Given the description of an element on the screen output the (x, y) to click on. 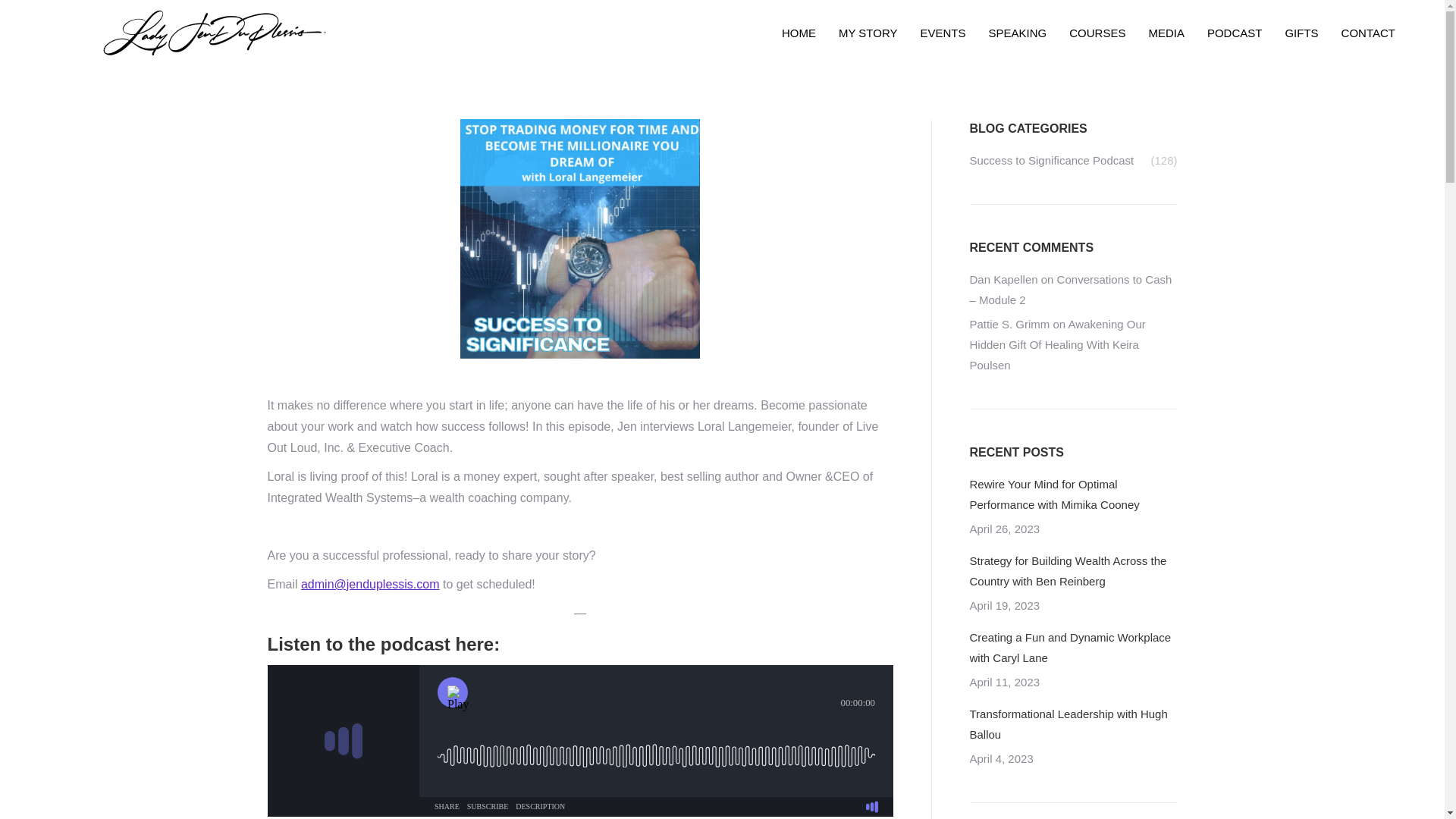
MEDIA (1166, 33)
PODCAST (1235, 33)
COURSES (1097, 33)
HOME (798, 33)
EVENTS (942, 33)
MY STORY (867, 33)
SPEAKING (1018, 33)
GIFTS (1301, 33)
CONTACT (1368, 33)
